Given the description of an element on the screen output the (x, y) to click on. 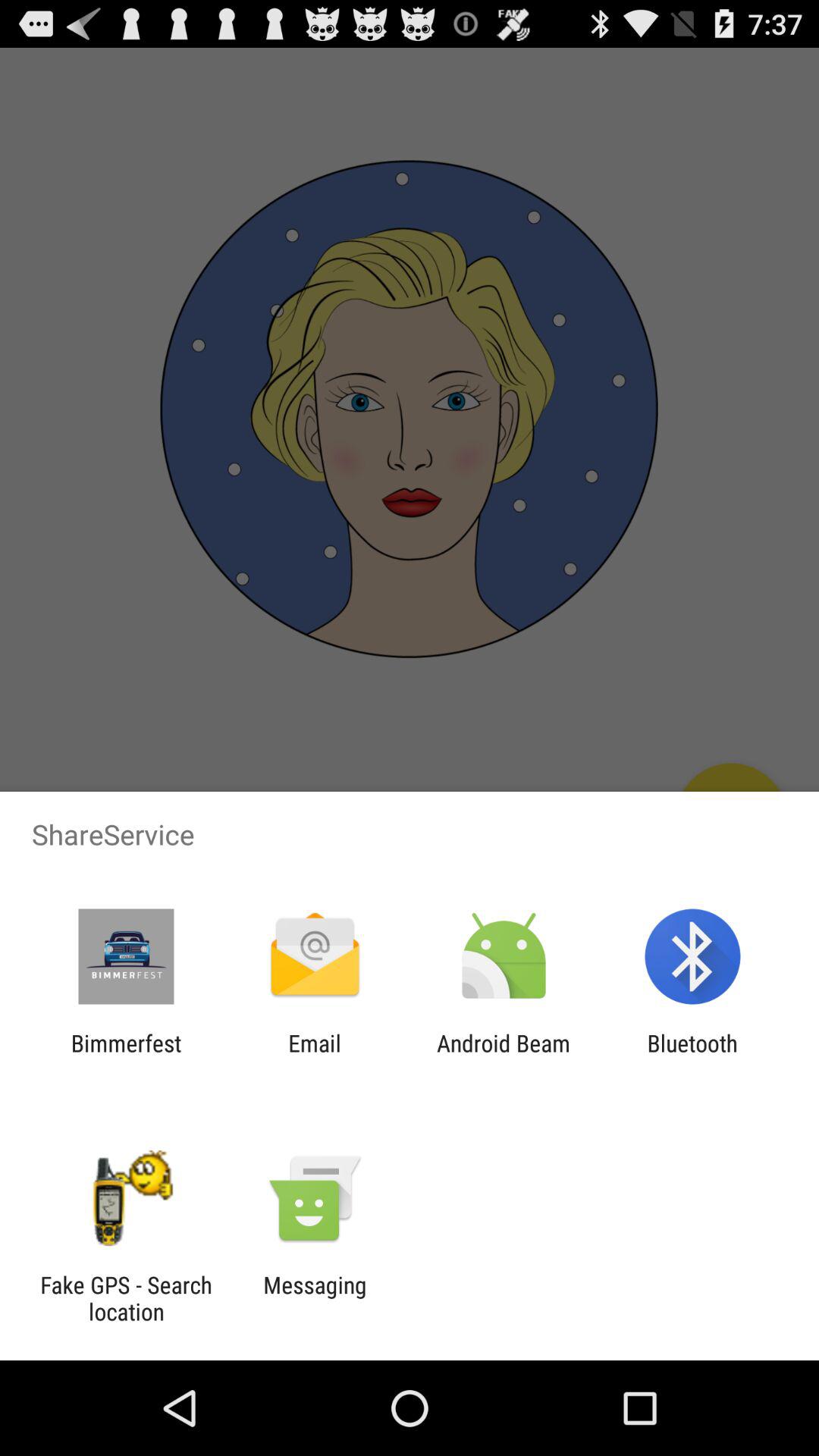
turn on fake gps search app (125, 1298)
